Given the description of an element on the screen output the (x, y) to click on. 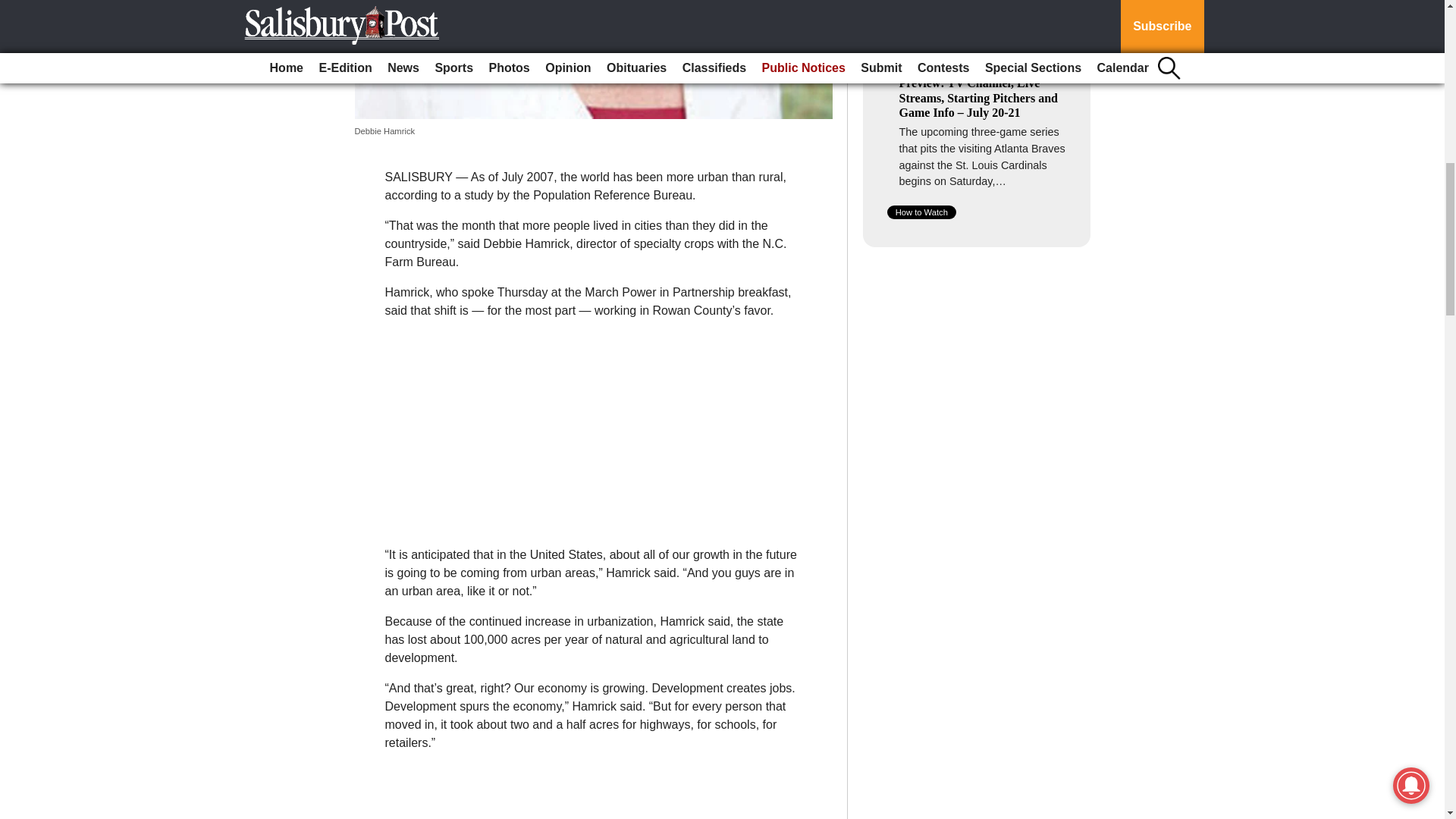
3rd party ad content (976, 366)
3rd party ad content (976, 579)
3rd party ad content (592, 426)
